Given the description of an element on the screen output the (x, y) to click on. 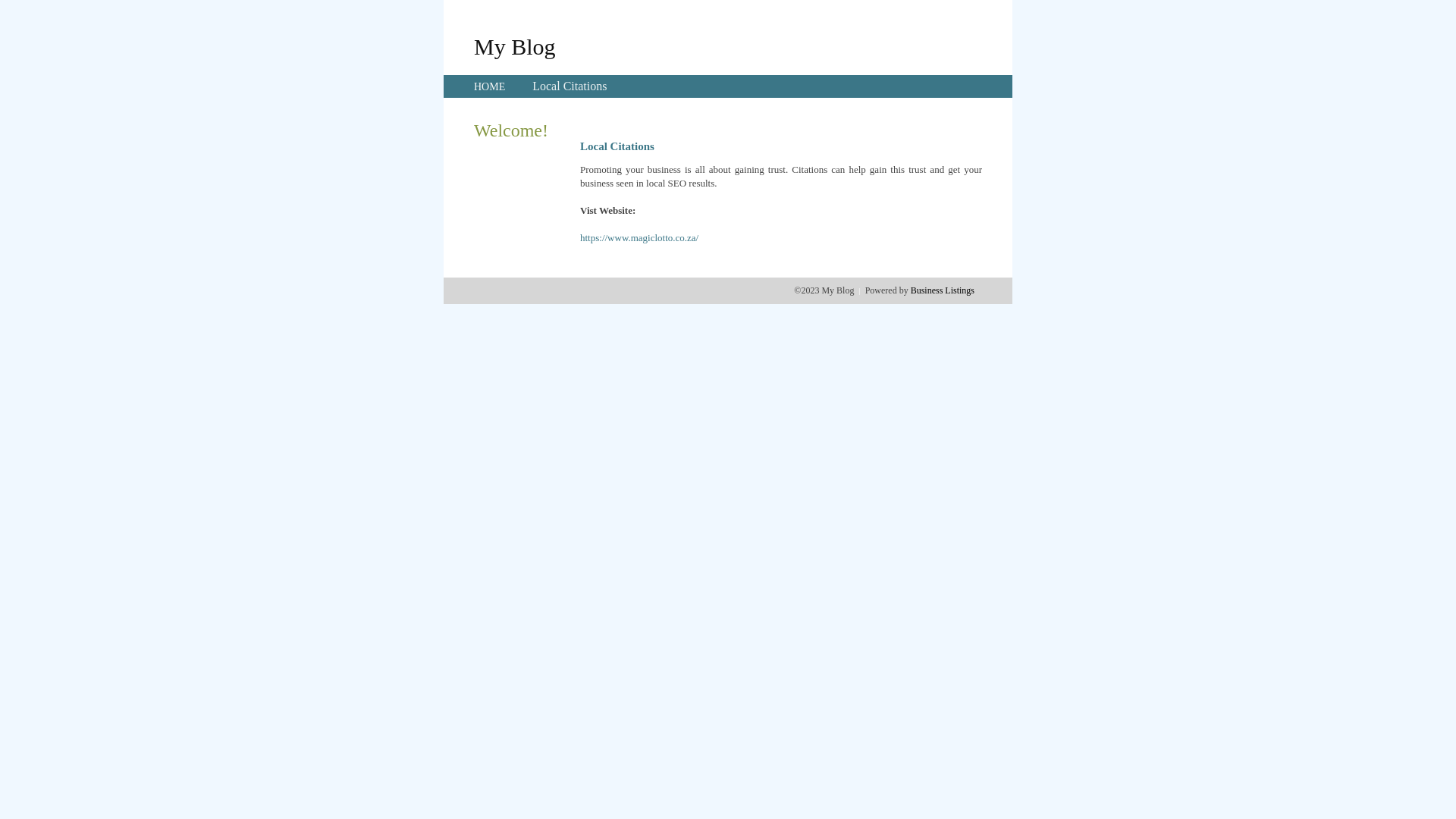
My Blog Element type: text (514, 46)
HOME Element type: text (489, 86)
Local Citations Element type: text (569, 85)
https://www.magiclotto.co.za/ Element type: text (639, 237)
Business Listings Element type: text (942, 290)
